Given the description of an element on the screen output the (x, y) to click on. 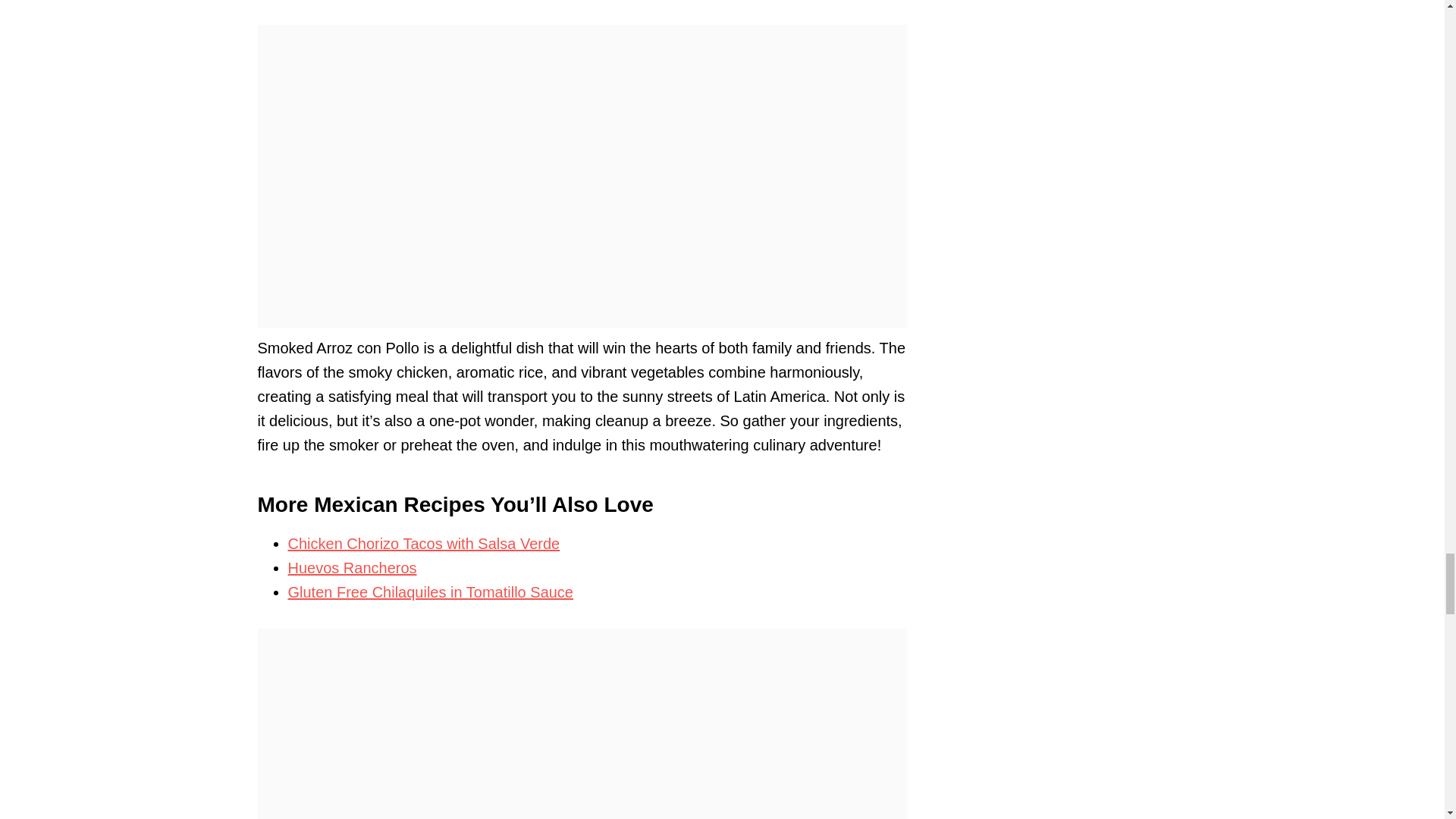
Gluten Free Chilaquiles in Tomatillo Sauce (430, 591)
Chicken Chorizo Tacos with Salsa Verde (424, 543)
Huevos Rancheros (352, 567)
